Given the description of an element on the screen output the (x, y) to click on. 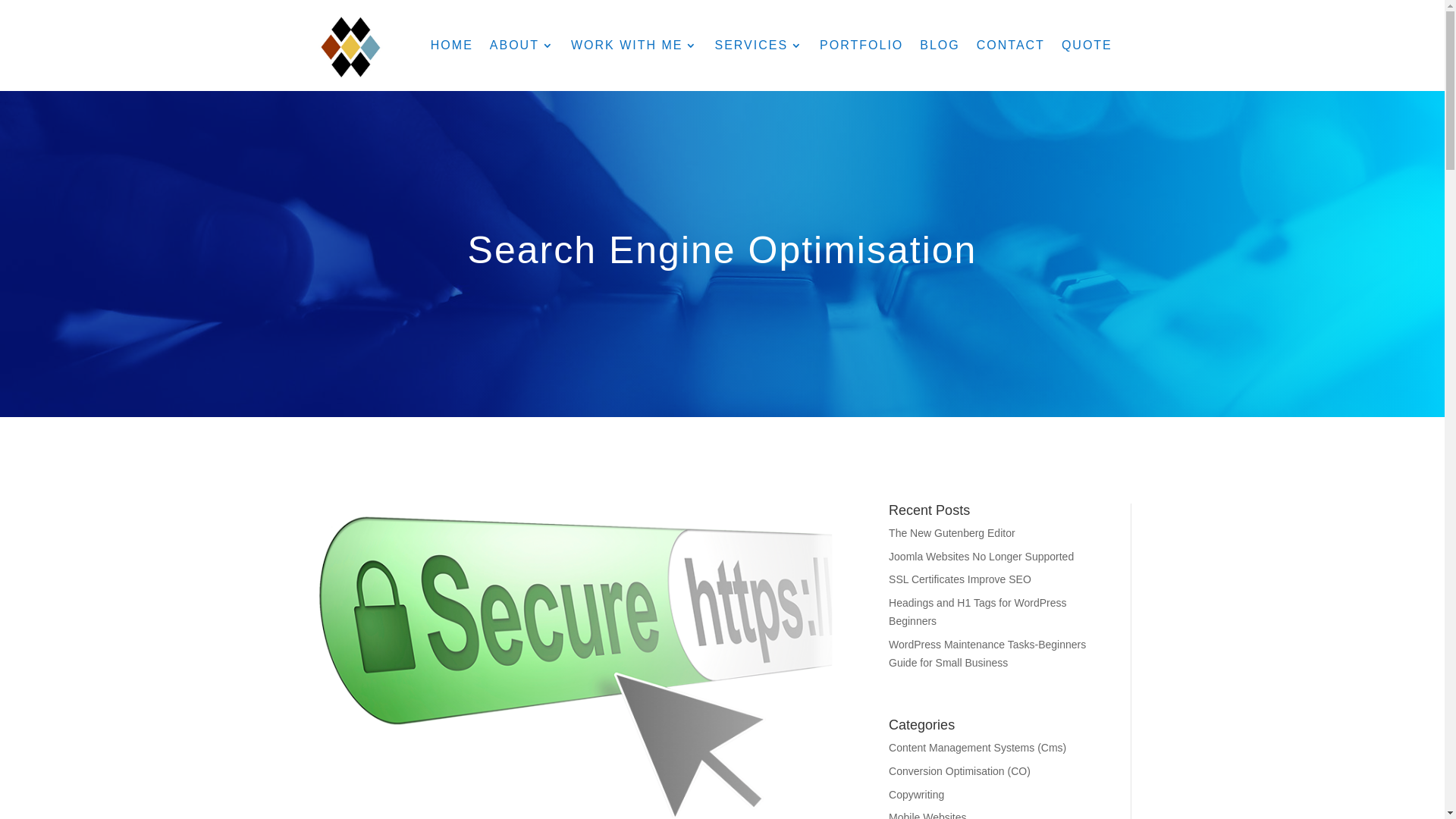
Copywriting Element type: text (916, 794)
CONTACT Element type: text (1010, 45)
Joomla Websites No Longer Supported Element type: text (980, 556)
SSL Certificates Improve SEO Element type: text (959, 579)
BLOG Element type: text (939, 45)
Headings and H1 Tags for WordPress Beginners Element type: text (977, 611)
Content Management Systems (Cms) Element type: text (977, 747)
Conversion Optimisation (CO) Element type: text (959, 771)
ABOUT Element type: text (521, 45)
QUOTE Element type: text (1086, 45)
HOME Element type: text (451, 45)
WORK WITH ME Element type: text (634, 45)
PORTFOLIO Element type: text (861, 45)
The New Gutenberg Editor Element type: text (951, 533)
SERVICES Element type: text (758, 45)
